Given the description of an element on the screen output the (x, y) to click on. 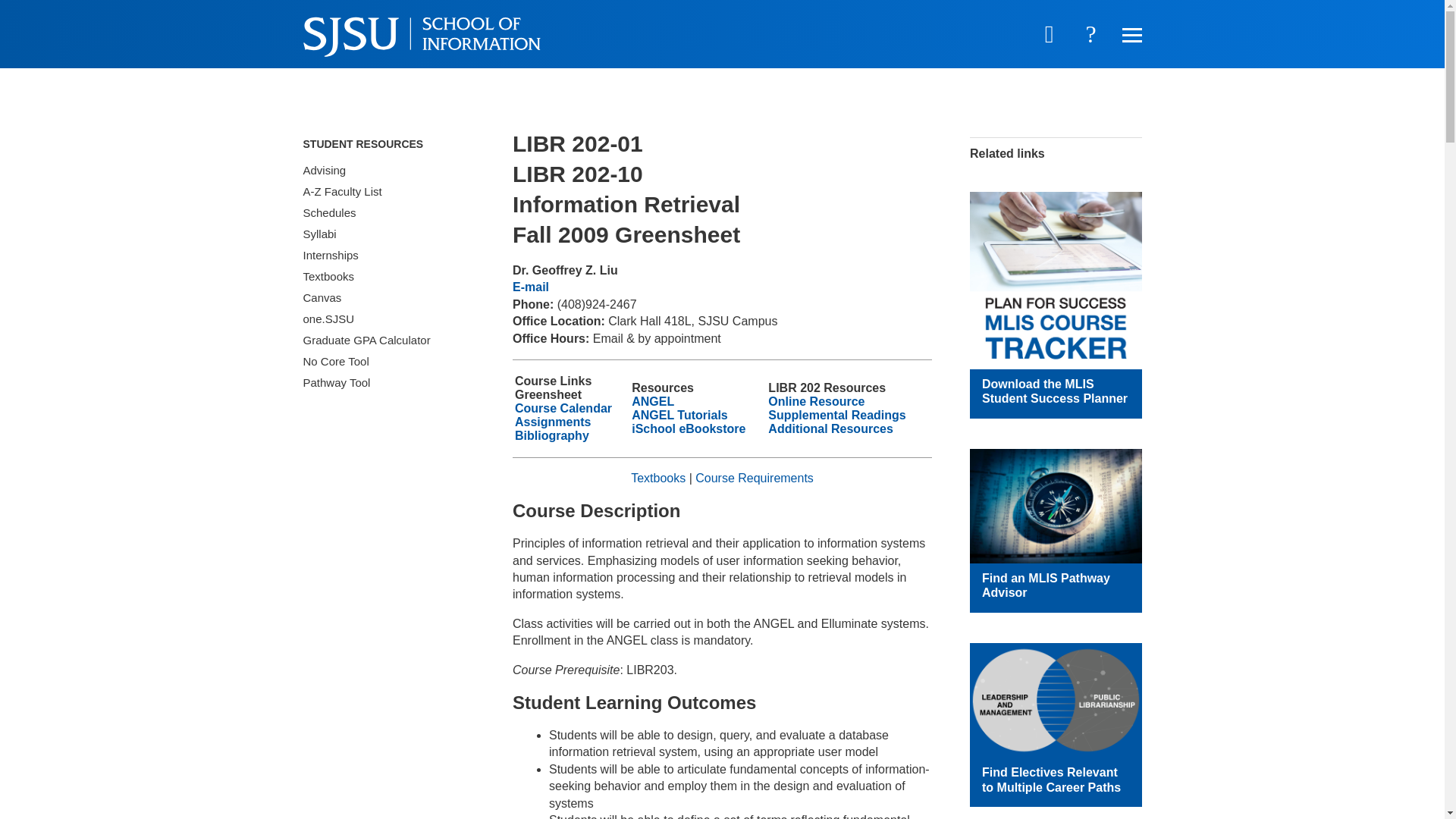
Advising (389, 169)
Internships (389, 255)
No Core Tool (389, 361)
Supplemental Readings (836, 414)
Assignments (553, 421)
E-mail (530, 286)
Course Calendar (563, 408)
Syllabi (389, 233)
Course Requirements (754, 477)
Textbooks (389, 276)
Additional Resources (830, 428)
Pathway Tool (389, 382)
Internships (389, 255)
Textbooks (657, 477)
Textbooks (389, 276)
